Given the description of an element on the screen output the (x, y) to click on. 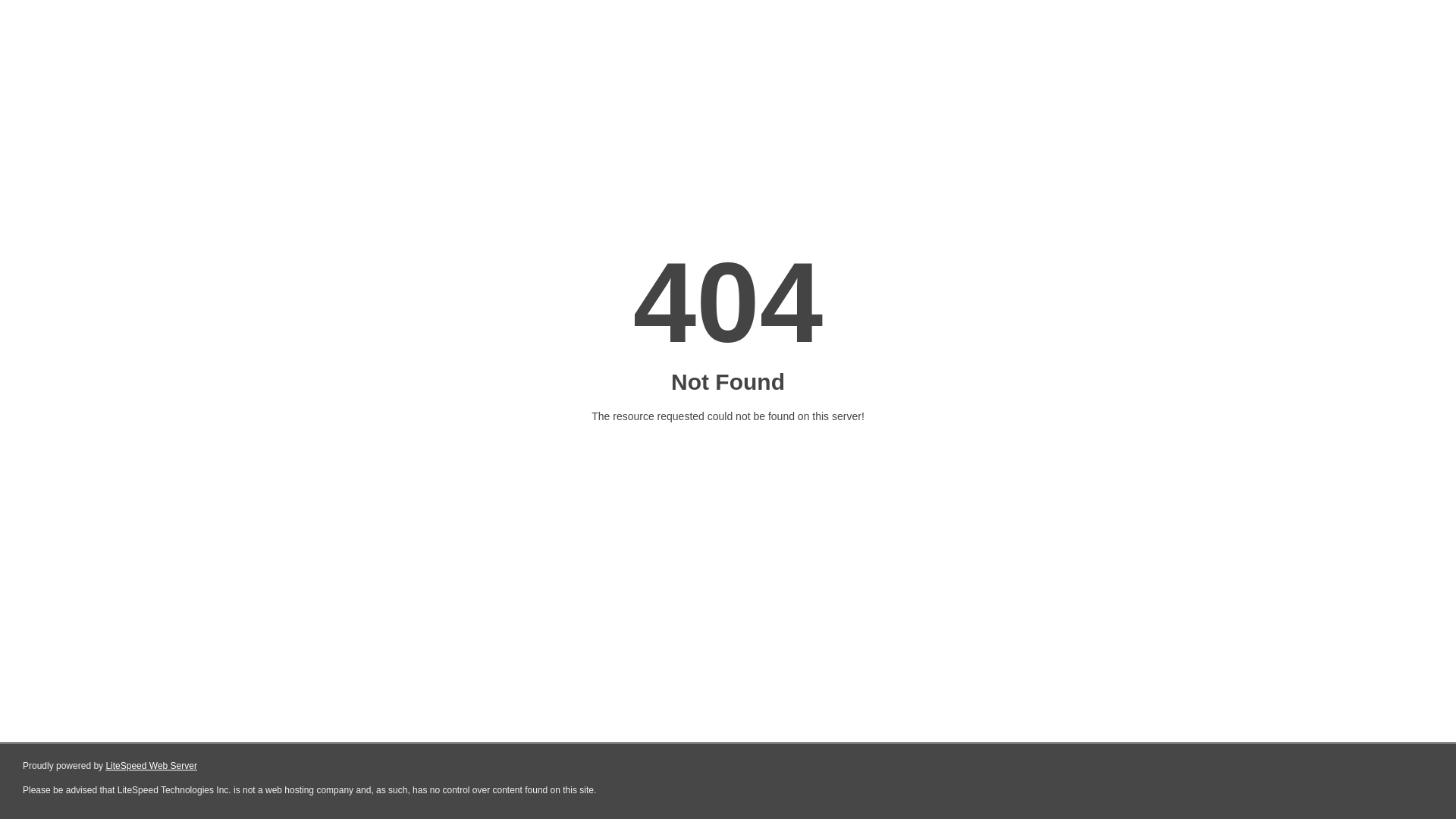
LiteSpeed Web Server Element type: text (151, 765)
